Given the description of an element on the screen output the (x, y) to click on. 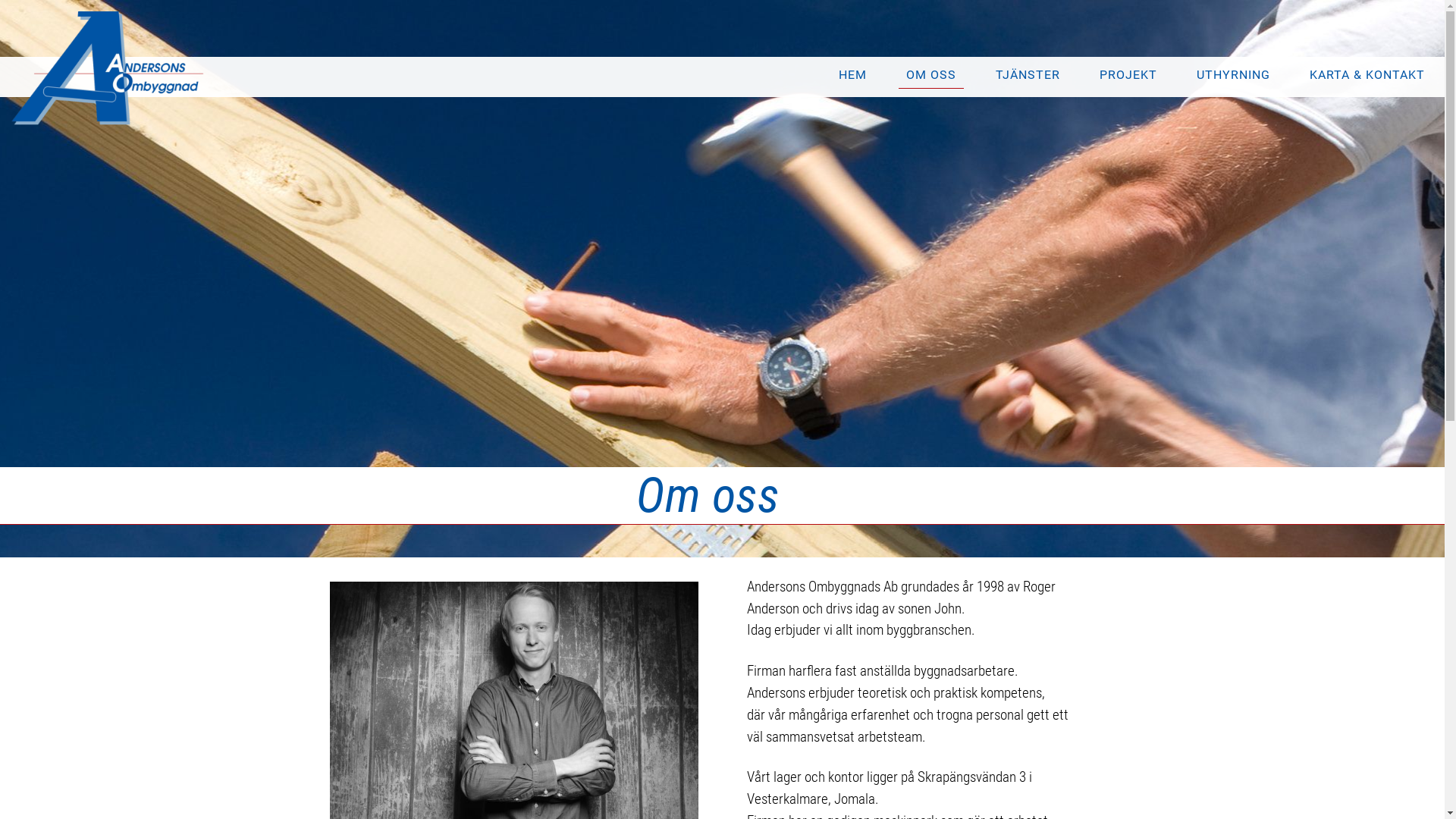
HEM Element type: text (852, 74)
PROJEKT Element type: text (1128, 74)
KARTA & KONTAKT Element type: text (1366, 74)
OM OSS Element type: text (931, 74)
UTHYRNING Element type: text (1233, 74)
